Given the description of an element on the screen output the (x, y) to click on. 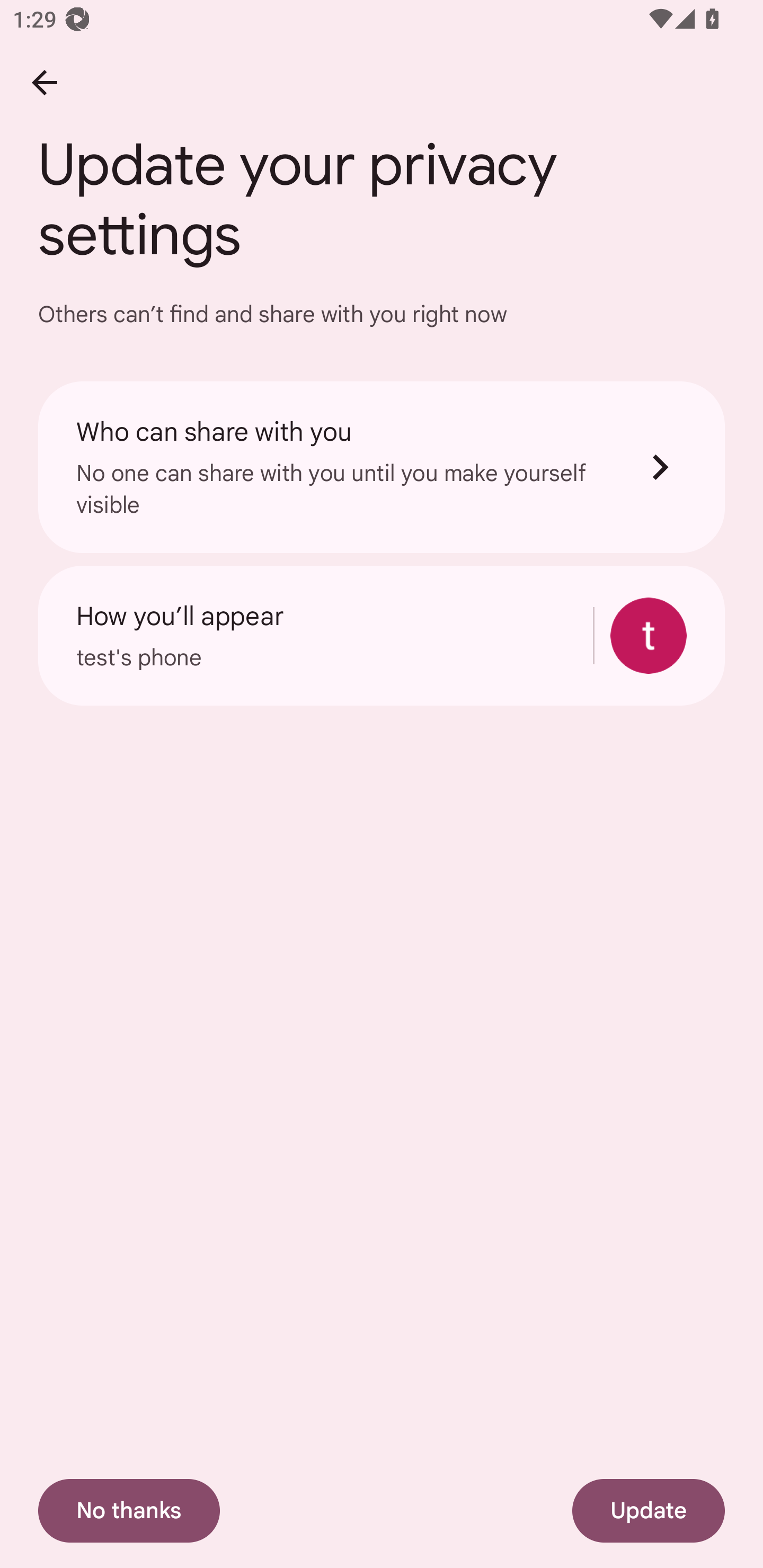
Back (44, 81)
Signed in as testappium002@gmail.com (648, 635)
No thanks (128, 1510)
Update (648, 1510)
